Given the description of an element on the screen output the (x, y) to click on. 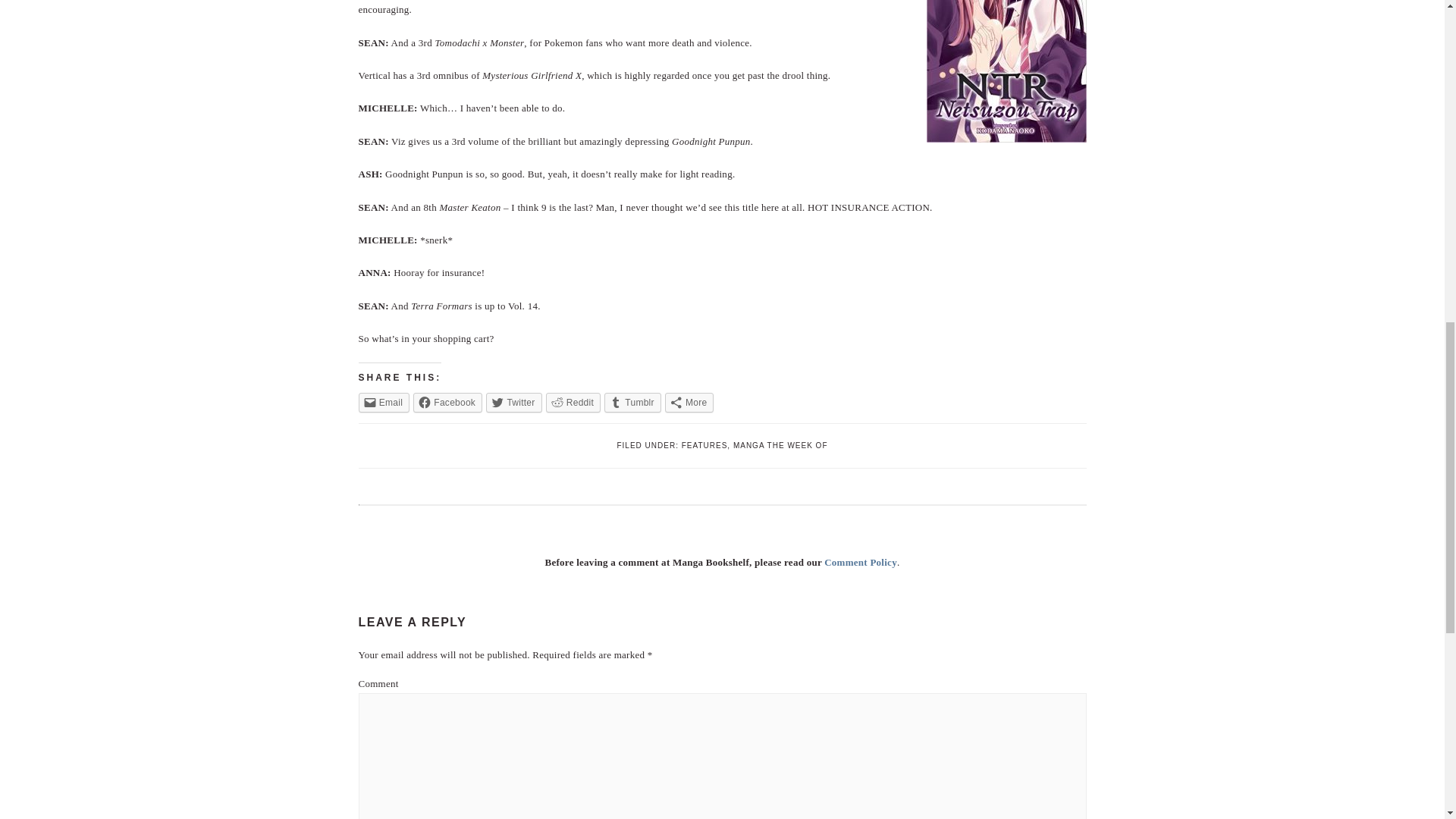
Click to share on Twitter (513, 402)
Click to share on Reddit (573, 402)
Click to share on Tumblr (632, 402)
Click to share on Facebook (447, 402)
Click to email this to a friend (383, 402)
